Given the description of an element on the screen output the (x, y) to click on. 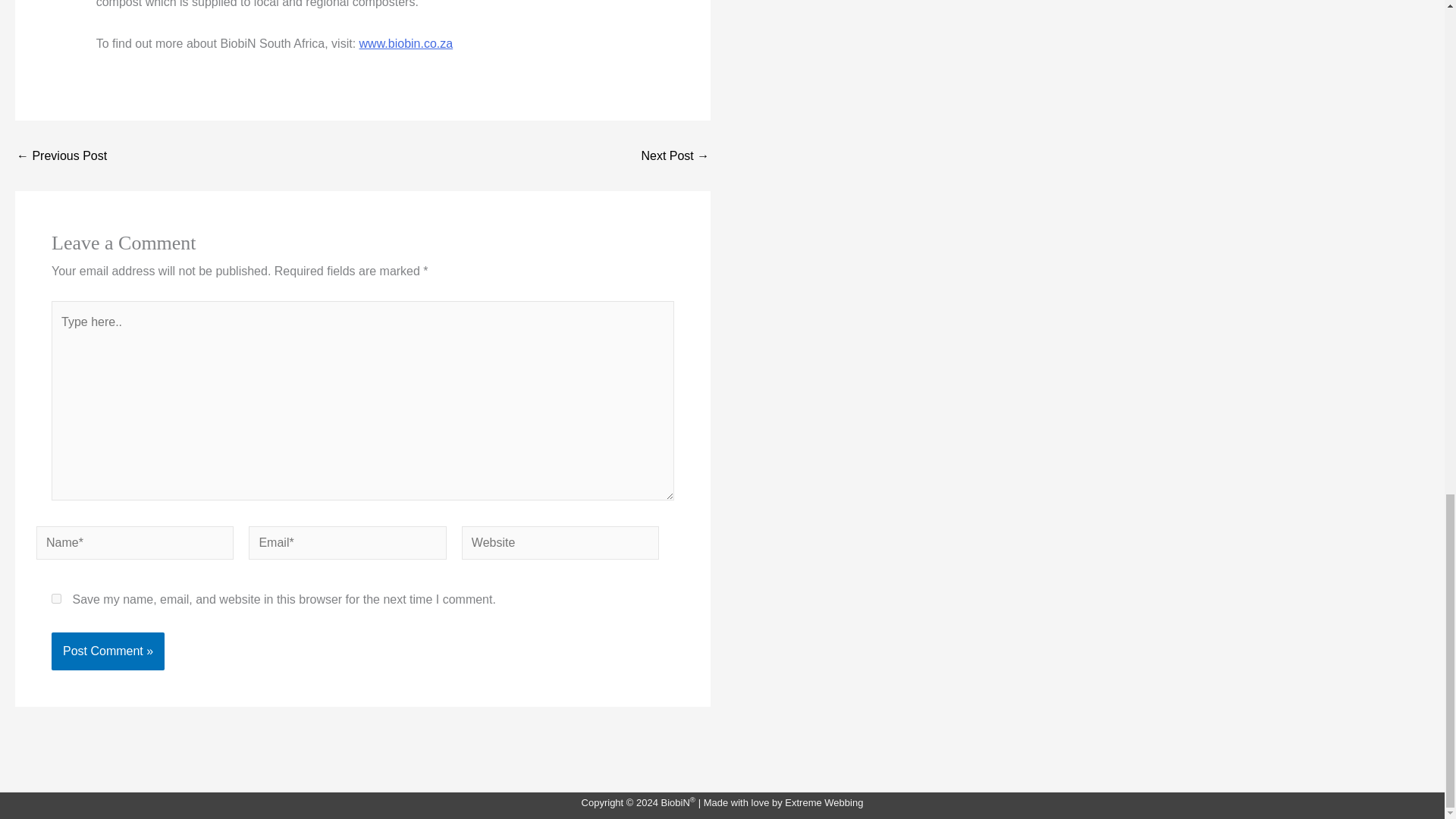
Looking at organic waste market growth indicators (674, 155)
www.biobin.co.za (405, 42)
yes (55, 598)
